Given the description of an element on the screen output the (x, y) to click on. 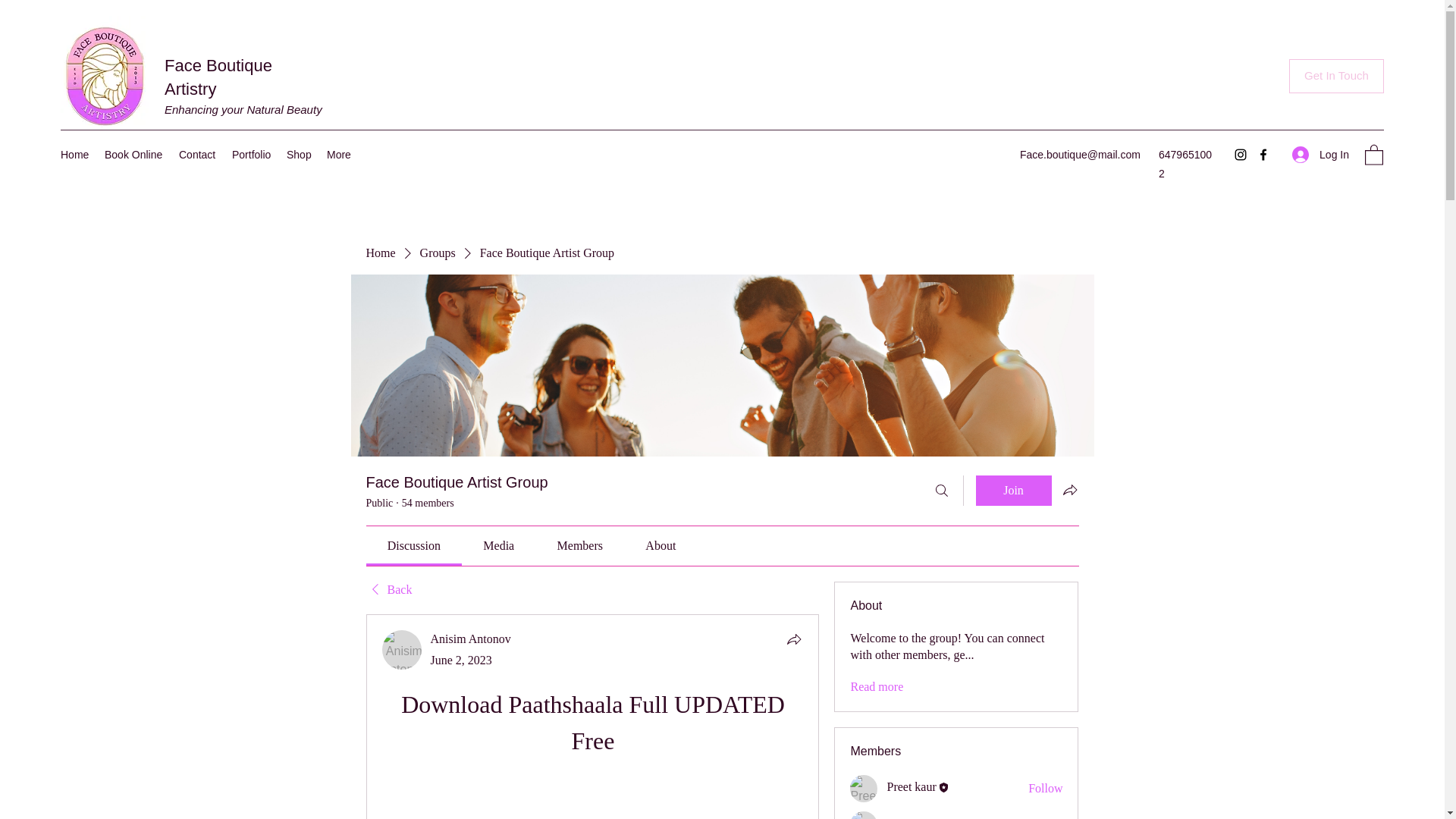
Home (74, 154)
Preet kaur (911, 786)
Portfolio (251, 154)
Face Boutique Artistry (218, 77)
Follow (1044, 818)
Iliyana Clark (863, 815)
Join (1013, 490)
Read more (876, 686)
Preet kaur (863, 788)
Shop (298, 154)
